Given the description of an element on the screen output the (x, y) to click on. 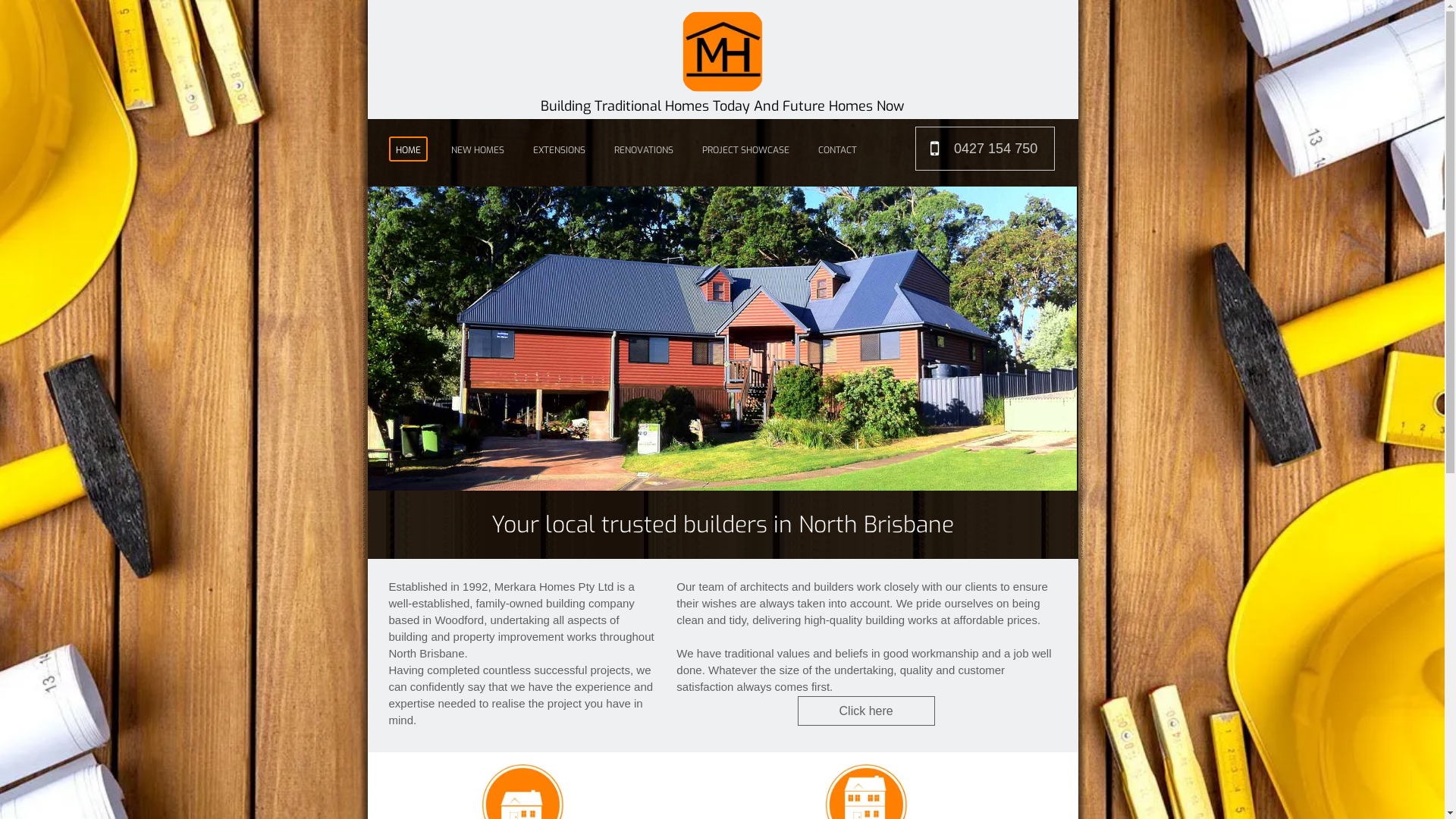
Click here Element type: text (866, 710)
PROJECT SHOWCASE Element type: text (745, 149)
EXTENSIONS Element type: text (558, 149)
0427 154 750 Element type: text (984, 148)
NEW HOMES Element type: text (477, 149)
CONTACT Element type: text (837, 149)
merkara homes pty ltd business logo  Element type: hover (722, 51)
RENOVATIONS Element type: text (643, 149)
HOME Element type: text (408, 148)
